Given the description of an element on the screen output the (x, y) to click on. 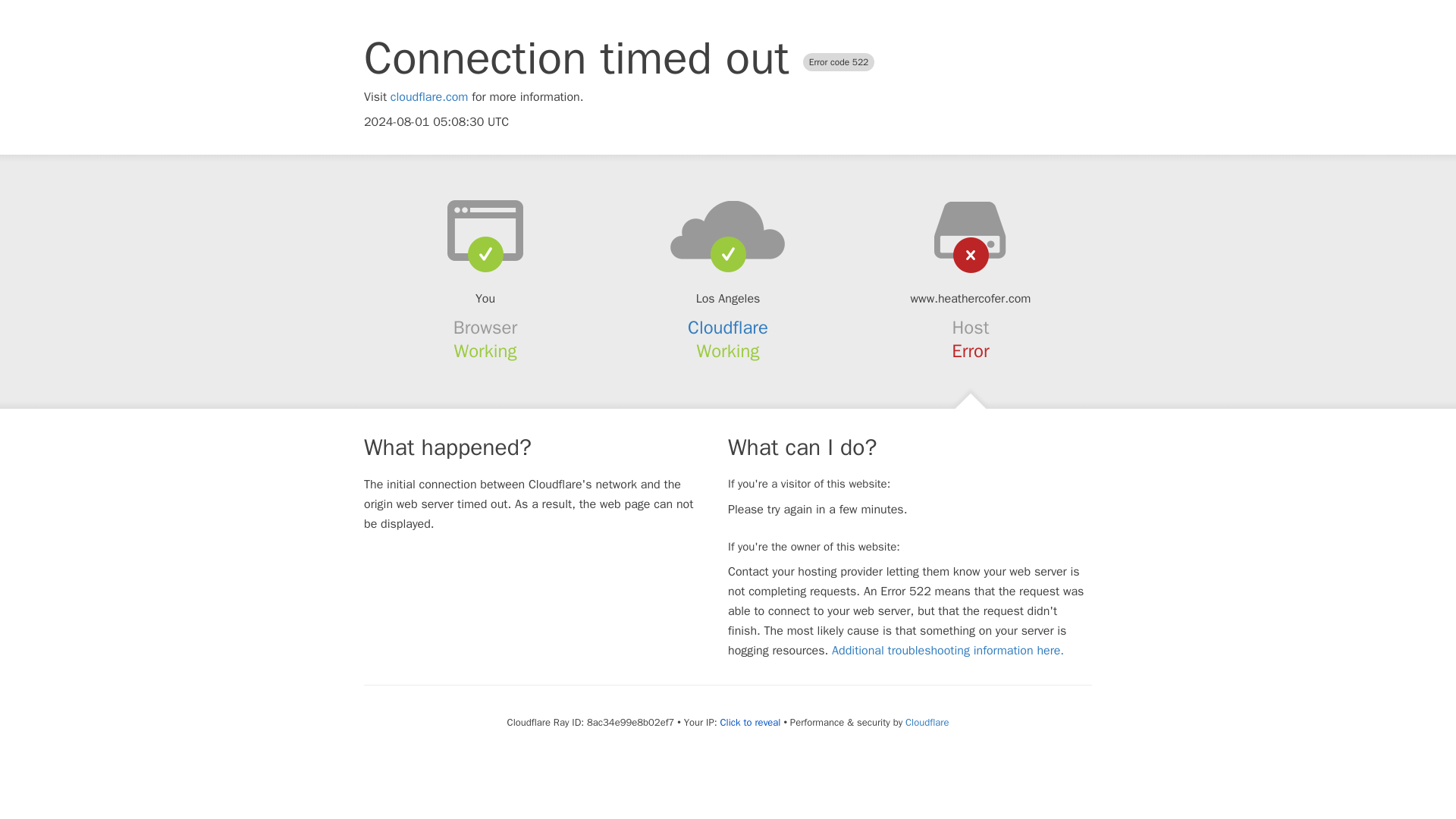
Cloudflare (927, 721)
cloudflare.com (429, 96)
Click to reveal (750, 722)
Cloudflare (727, 327)
Additional troubleshooting information here. (947, 650)
